Given the description of an element on the screen output the (x, y) to click on. 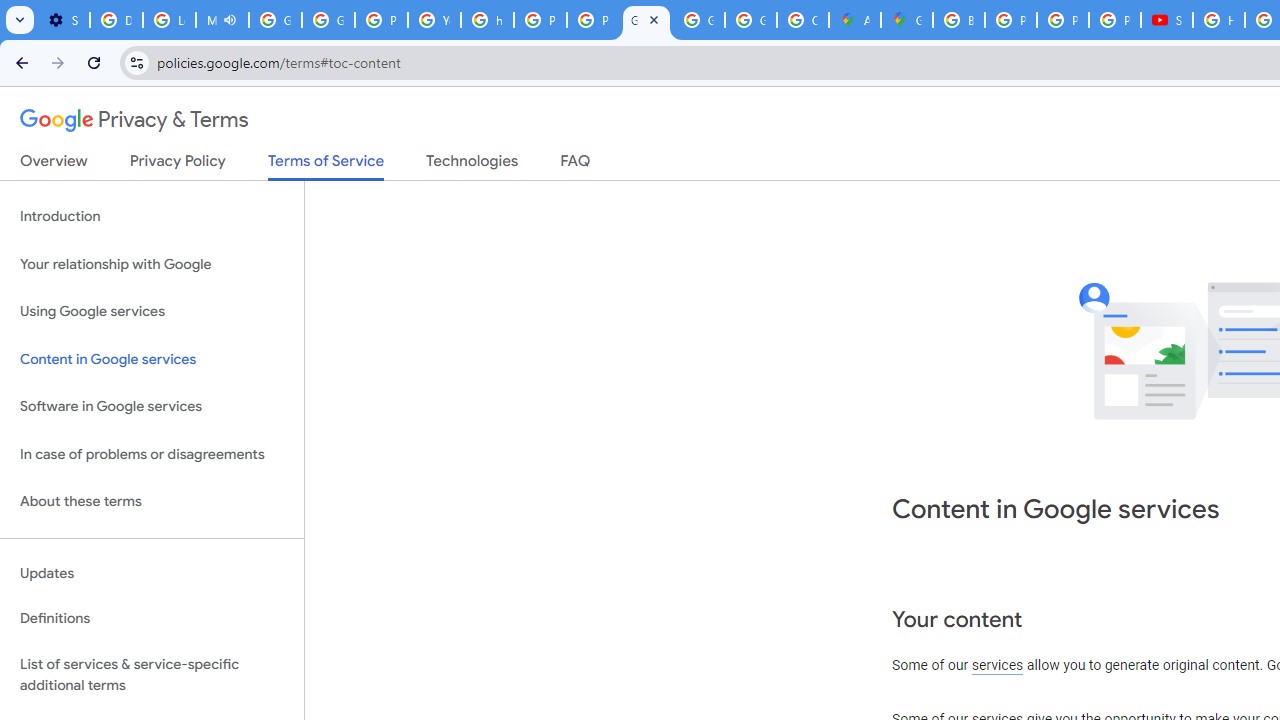
Mute tab (229, 20)
How Chrome protects your passwords - Google Chrome Help (1219, 20)
About these terms (152, 502)
Create your Google Account (803, 20)
https://scholar.google.com/ (487, 20)
Introduction (152, 216)
Using Google services (152, 312)
Google Account Help (275, 20)
Privacy Help Center - Policies Help (381, 20)
services (997, 666)
